Given the description of an element on the screen output the (x, y) to click on. 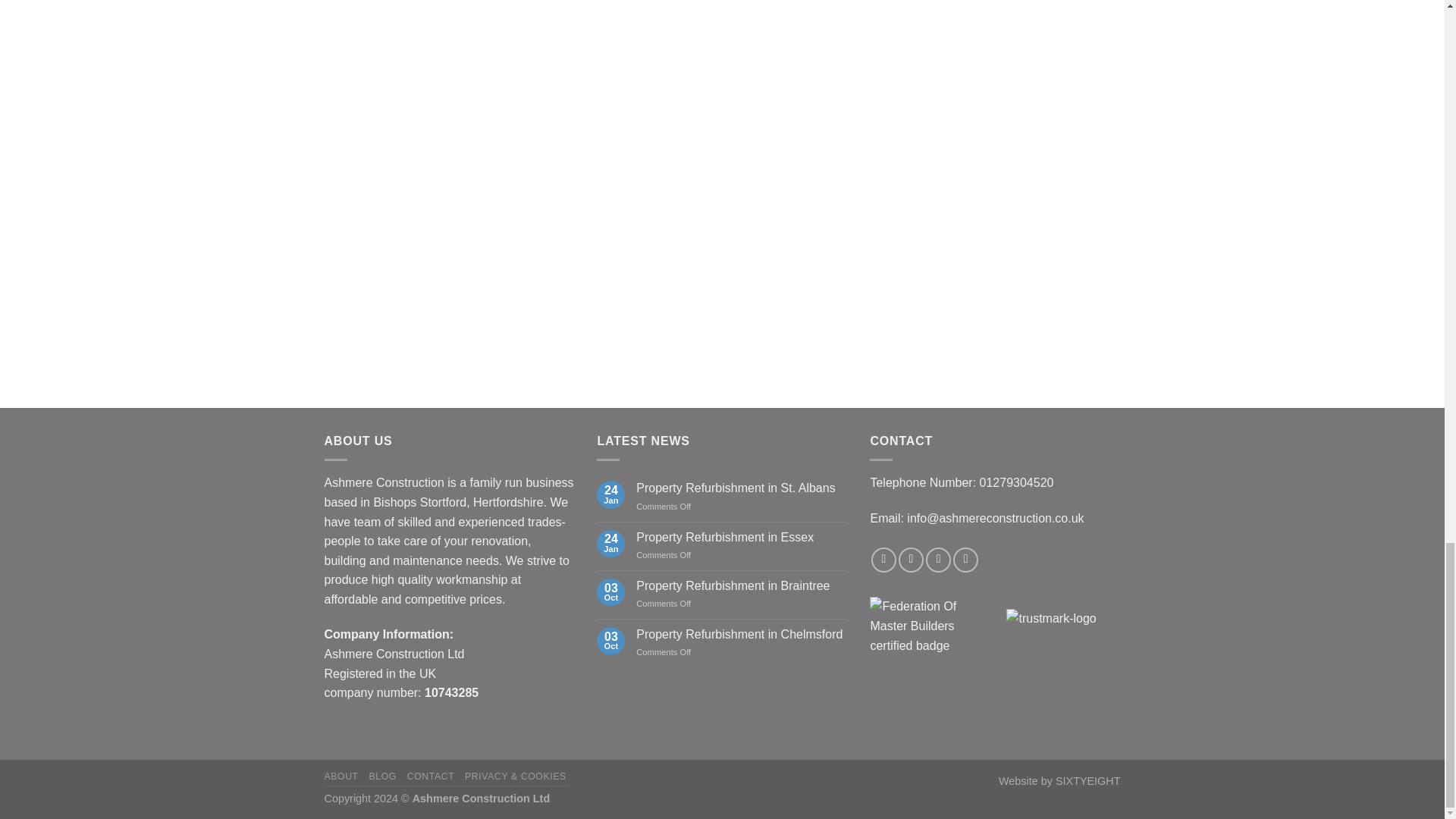
Property Refurbishment in St. Albans (741, 487)
Send us an email (965, 559)
Property Refurbishment in Braintree (741, 585)
Property Refurbishment in Essex (741, 536)
Follow on Facebook (883, 559)
Property Refurbishment in St. Albans (741, 487)
Follow on Twitter (938, 559)
Property Refurbishment in Braintree (741, 585)
Follow on Instagram (910, 559)
Property Refurbishment in Chelmsford (741, 634)
